Given the description of an element on the screen output the (x, y) to click on. 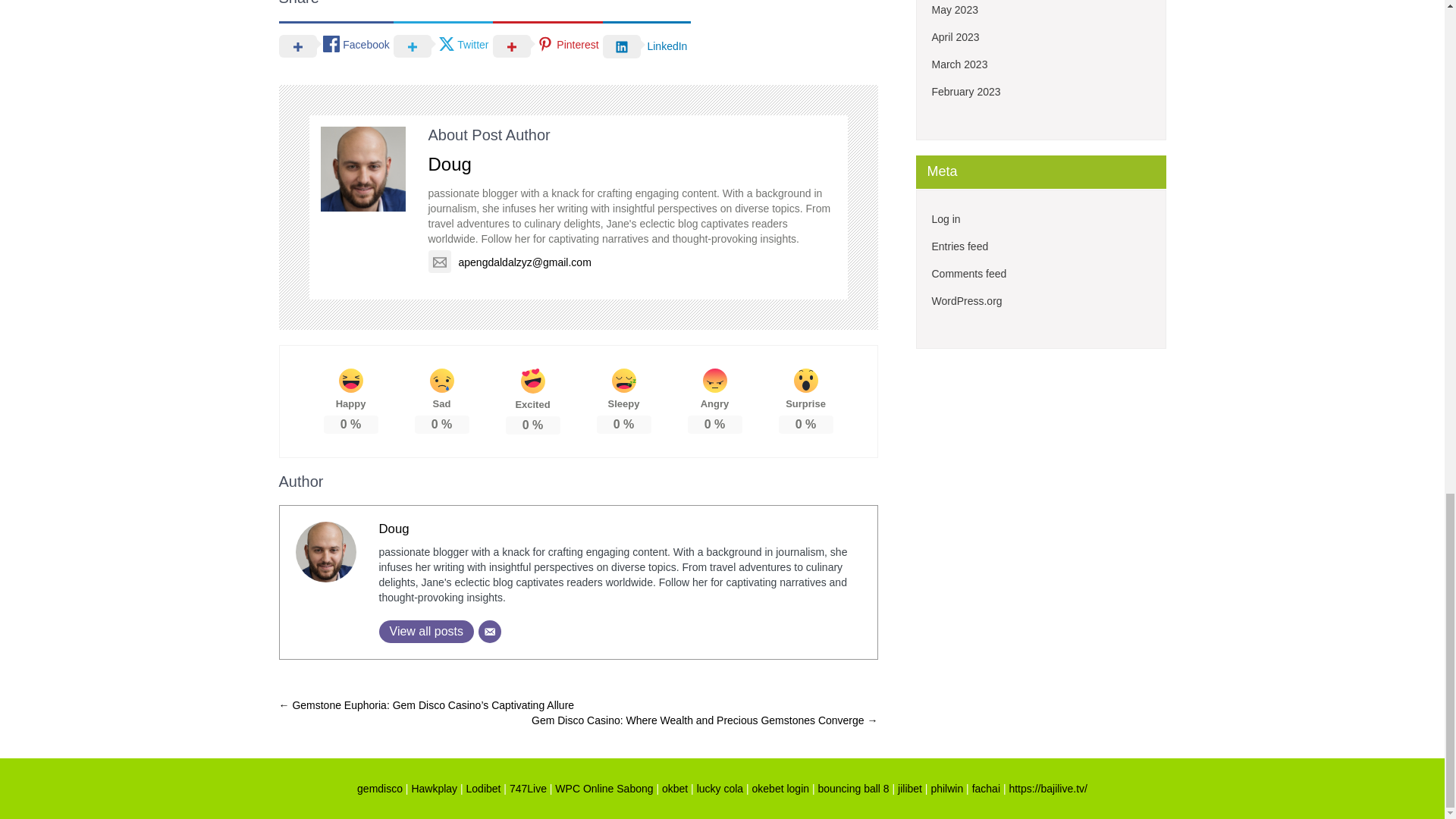
View all posts (426, 630)
LinkedIn (646, 45)
Pinterest (547, 44)
Twitter (443, 44)
Doug (393, 528)
Facebook (336, 44)
View all posts (426, 630)
Doug (393, 528)
Doug (449, 163)
